Given the description of an element on the screen output the (x, y) to click on. 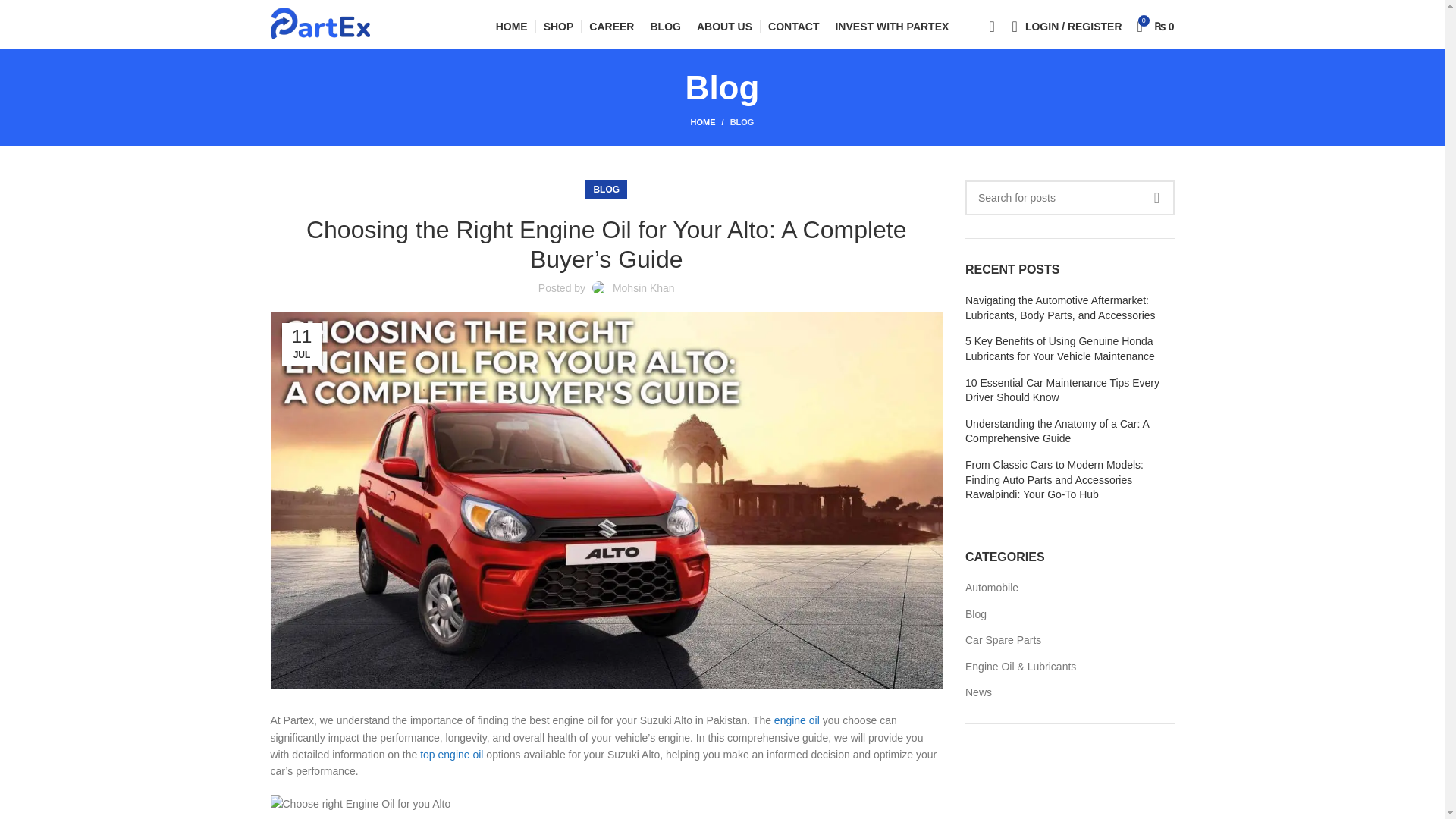
HOME (511, 26)
top engine oil (451, 754)
BLOG (606, 189)
SHOP (558, 26)
My account (1073, 26)
ine oil (805, 720)
CONTACT (793, 26)
HOME (710, 121)
ABOUT US (724, 26)
Log in (995, 281)
BLOG (742, 121)
Search for posts (1069, 197)
Mohsin Khan (643, 287)
Shopping cart (1155, 26)
INVEST WITH PARTEX (891, 26)
